Given the description of an element on the screen output the (x, y) to click on. 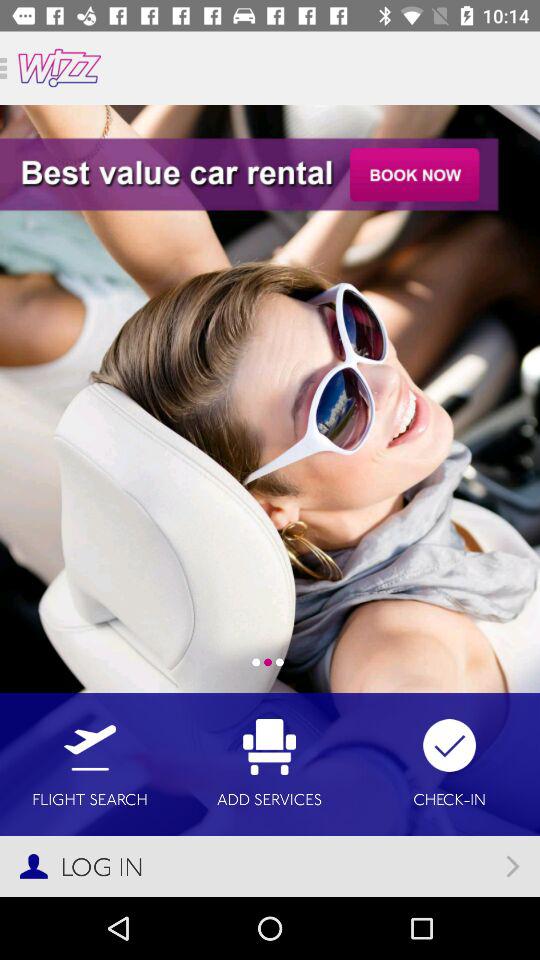
tap icon to the right of flight search (269, 764)
